Given the description of an element on the screen output the (x, y) to click on. 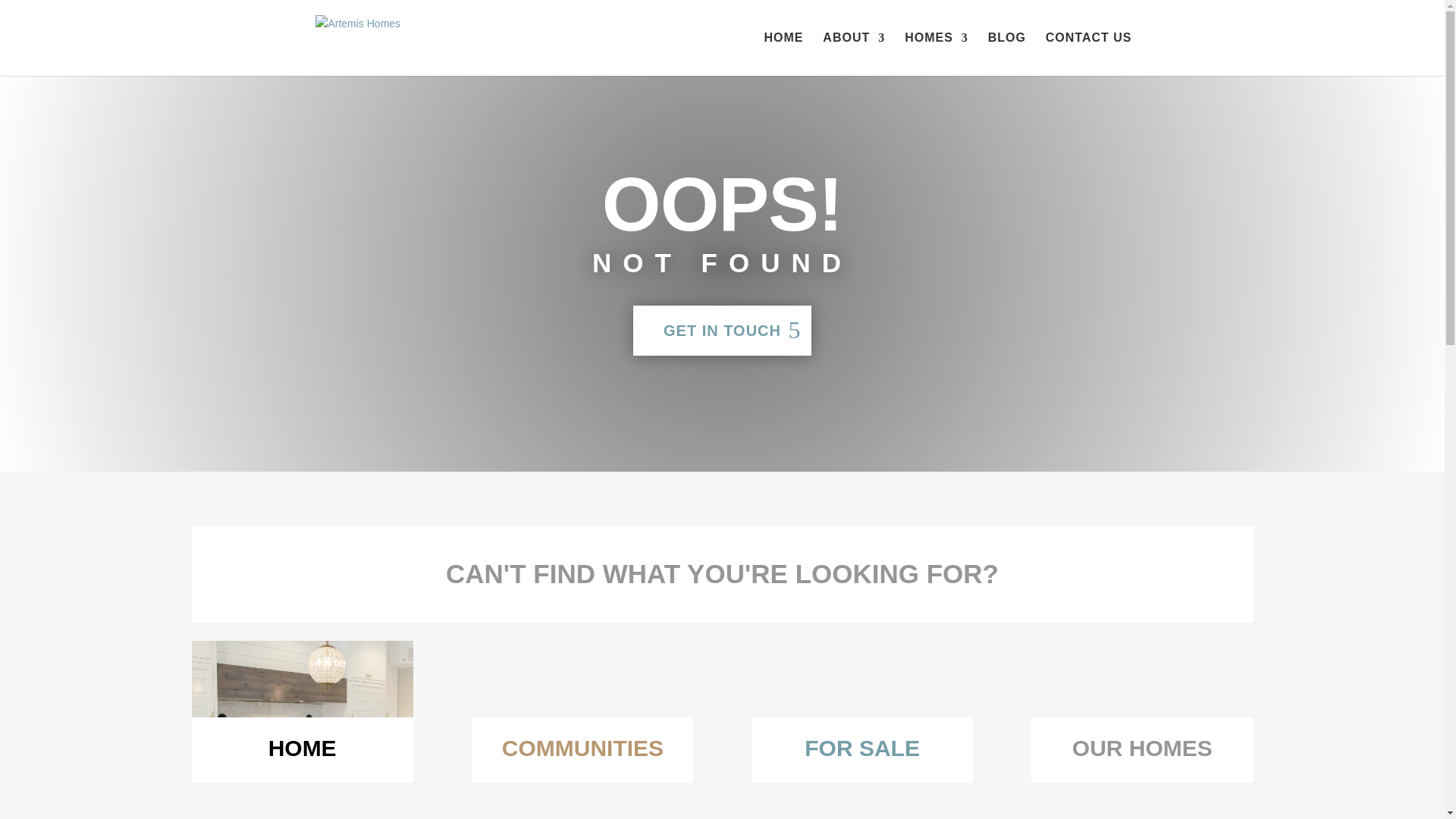
CONTACT US (1088, 54)
HOME (782, 54)
Home-Artemis-Regina-Canada-YQR-SK (301, 729)
GET IN TOUCH (721, 330)
ABOUT (853, 54)
HOMES (936, 54)
